Given the description of an element on the screen output the (x, y) to click on. 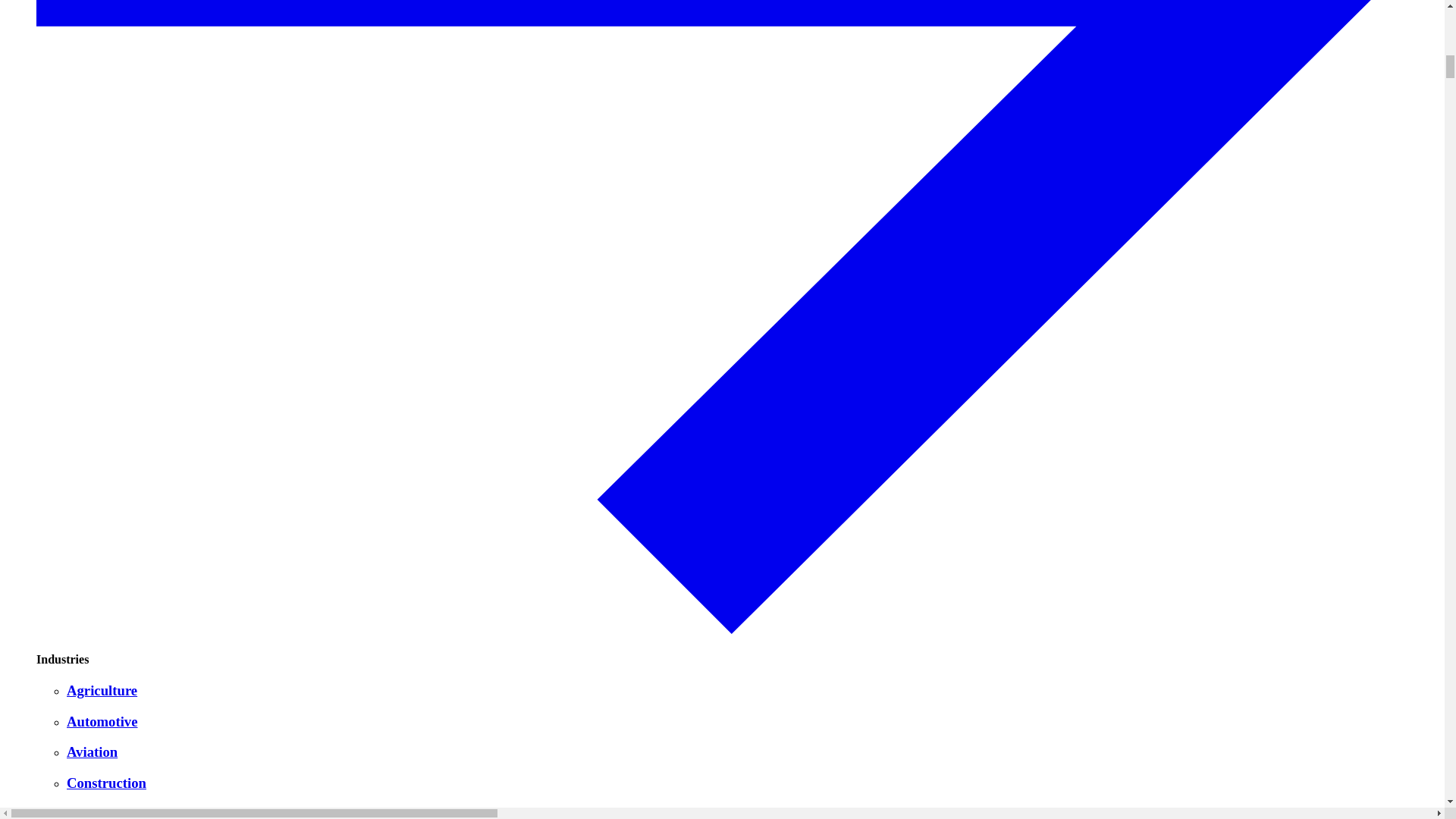
Construction (752, 782)
Agriculture (752, 690)
Aviation (752, 751)
Automotive (752, 721)
